Given the description of an element on the screen output the (x, y) to click on. 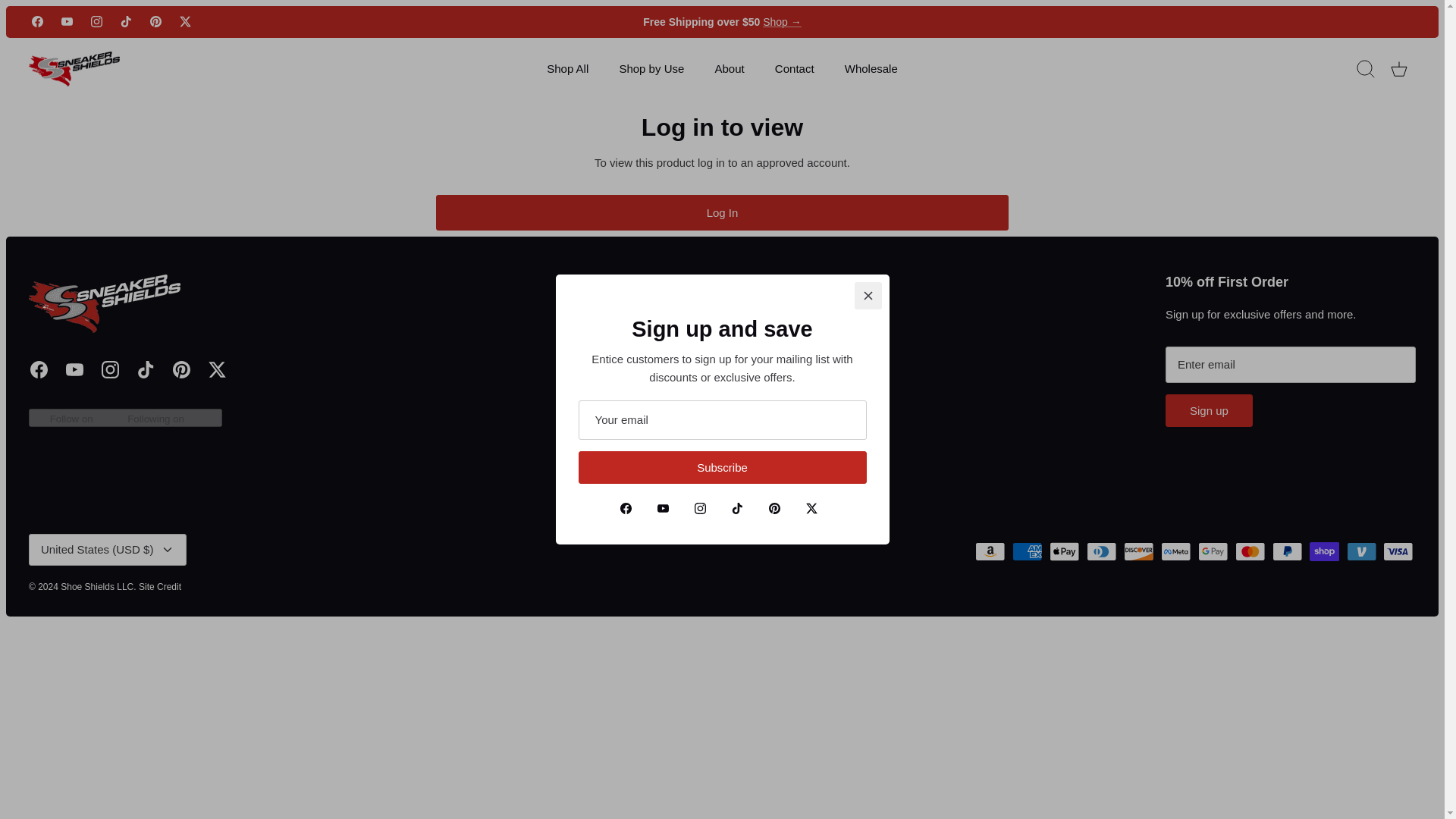
Shop by Use (651, 69)
Youtube (66, 21)
Wholesale (871, 69)
All products (782, 21)
Sneaker Shields (74, 68)
Pinterest (155, 21)
Youtube (73, 369)
Search (1365, 68)
Youtube (66, 21)
Contact (794, 69)
Pinterest (181, 369)
Instagram (96, 21)
Cart (1398, 68)
Instagram (110, 369)
Shop All (567, 69)
